Given the description of an element on the screen output the (x, y) to click on. 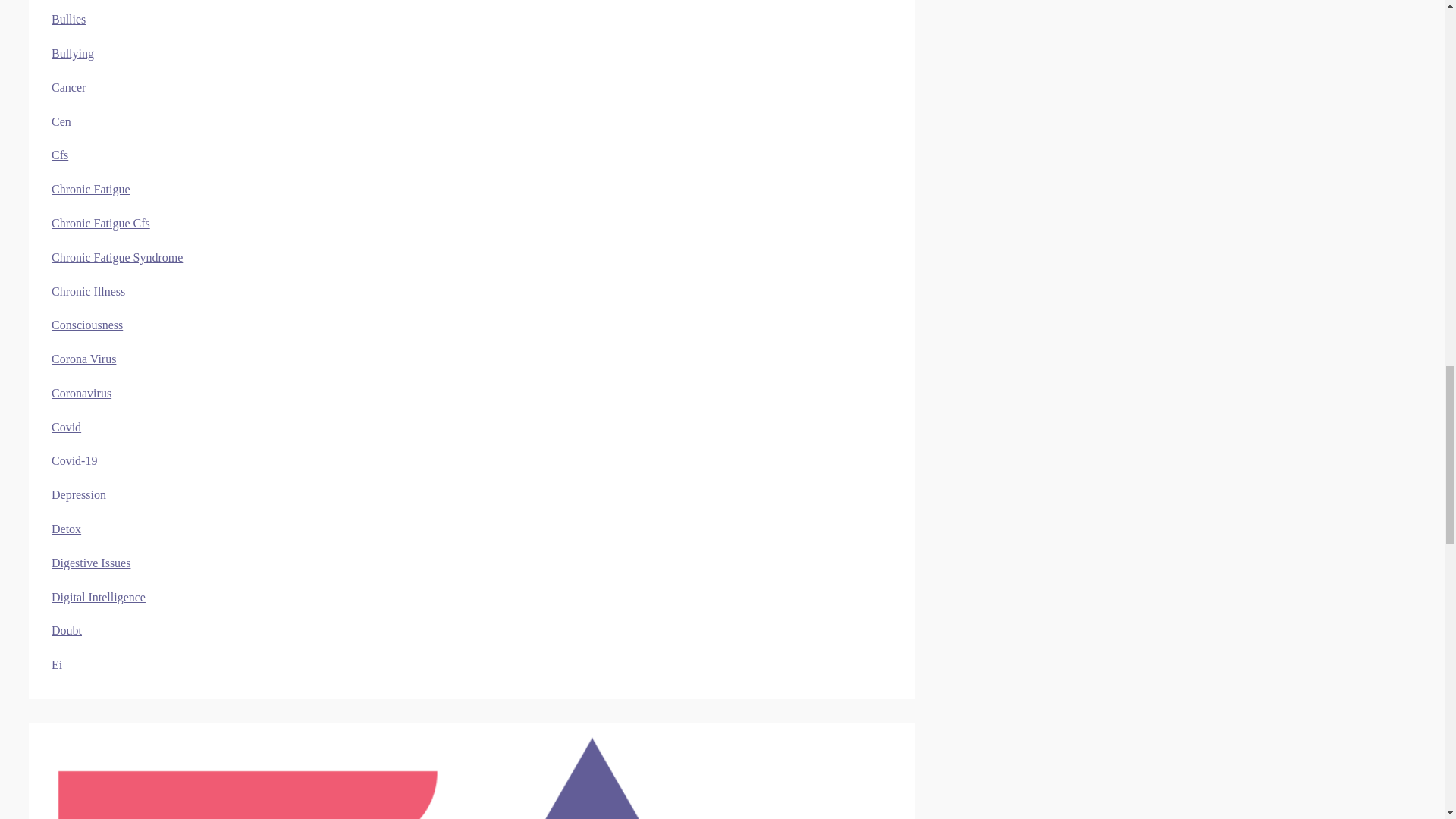
Coronavirus (81, 392)
Cancer (67, 87)
Consciousness (86, 324)
Covid-19 (73, 460)
Covid (65, 427)
Corona Virus (83, 358)
Depression (78, 494)
Chronic Fatigue (90, 188)
Chronic Illness (87, 291)
Bullying (72, 52)
Chronic Fatigue Syndrome (116, 256)
Bullies (67, 19)
Chronic Fatigue Cfs (99, 223)
Detox (65, 528)
Cfs (59, 154)
